Given the description of an element on the screen output the (x, y) to click on. 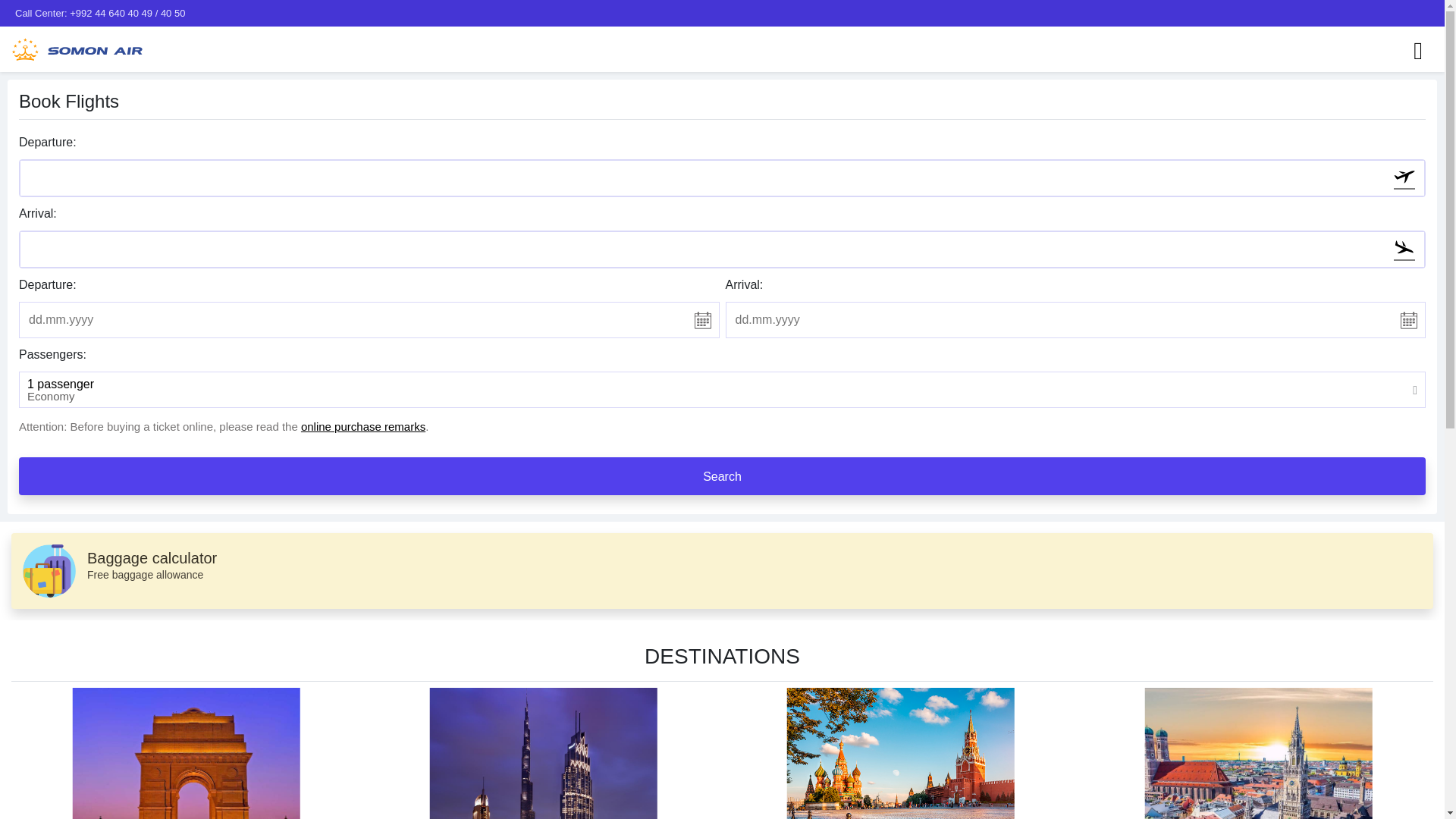
Search (721, 476)
online purchase remarks (721, 571)
